Given the description of an element on the screen output the (x, y) to click on. 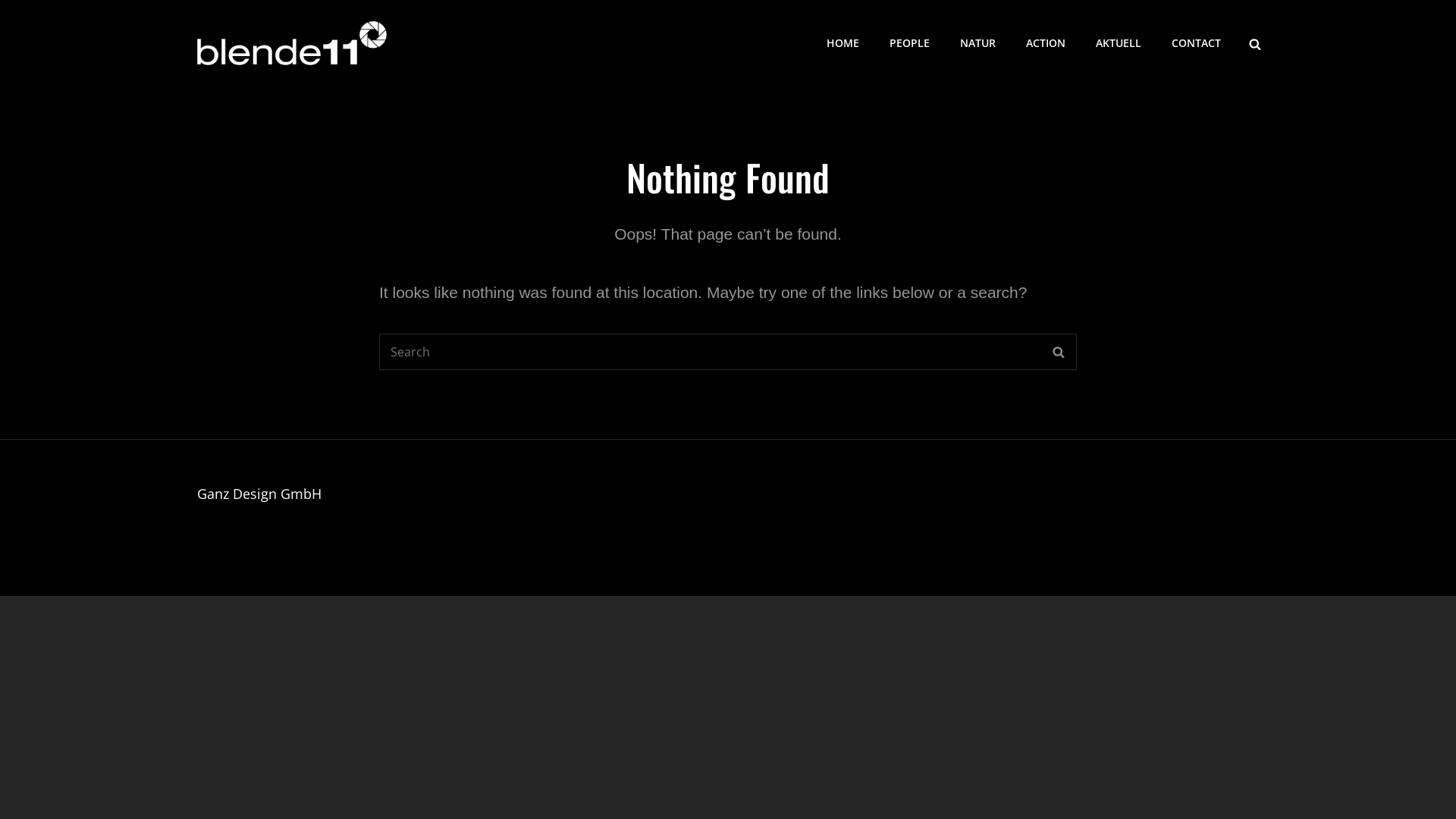
CONTACT Element type: text (1196, 43)
AKTUELL Element type: text (1118, 43)
HOME Element type: text (842, 43)
ACTION Element type: text (1045, 43)
SEARCH Element type: text (1057, 351)
Ganz Design GmbH Element type: text (259, 493)
NATUR Element type: text (977, 43)
PEOPLE Element type: text (909, 43)
SEARCH Element type: text (1254, 42)
